Given the description of an element on the screen output the (x, y) to click on. 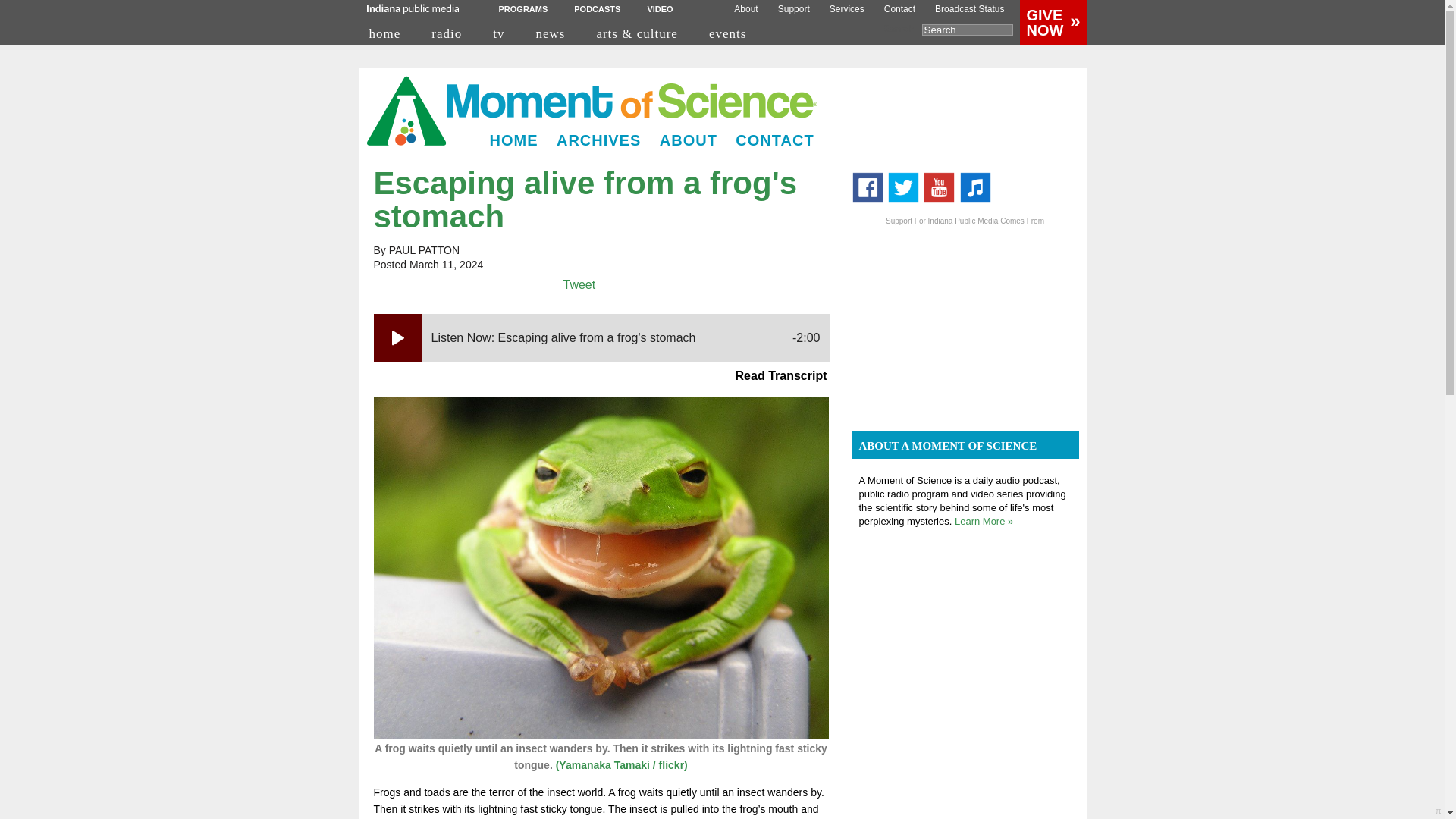
3rd party ad content (964, 321)
Search (967, 30)
